Given the description of an element on the screen output the (x, y) to click on. 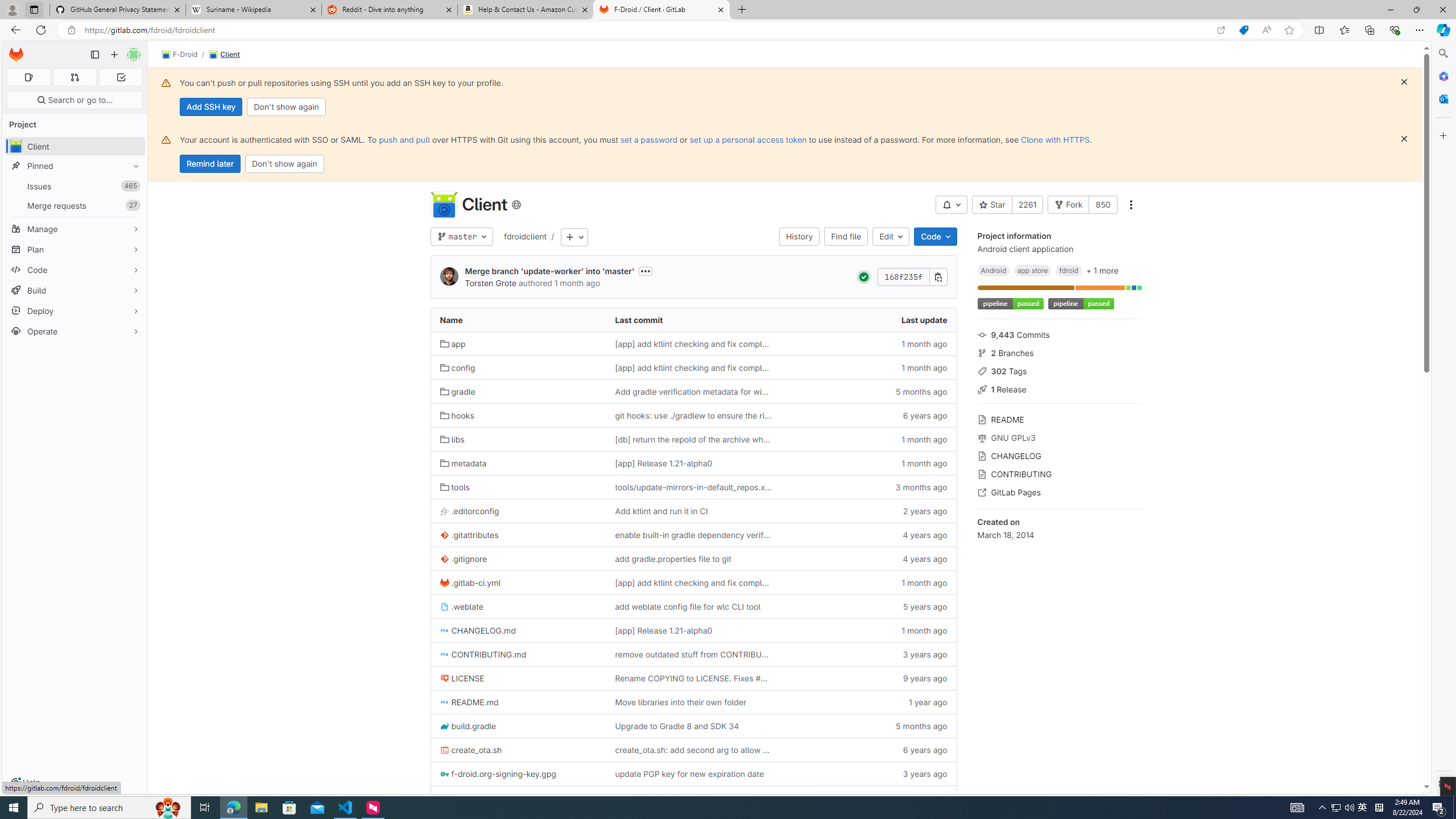
remove outdated stuff from CONTRIBUTING.md (692, 654)
gradle.properties (517, 797)
Suriname - Wikipedia (253, 9)
CHANGELOG.md (517, 630)
302 Tags (1058, 369)
[app] add ktlint checking and fix complaints it has (693, 582)
LICENSE (461, 678)
Dismiss (1403, 138)
libs (517, 439)
enable built-in gradle dependency verification (693, 534)
